Given the description of an element on the screen output the (x, y) to click on. 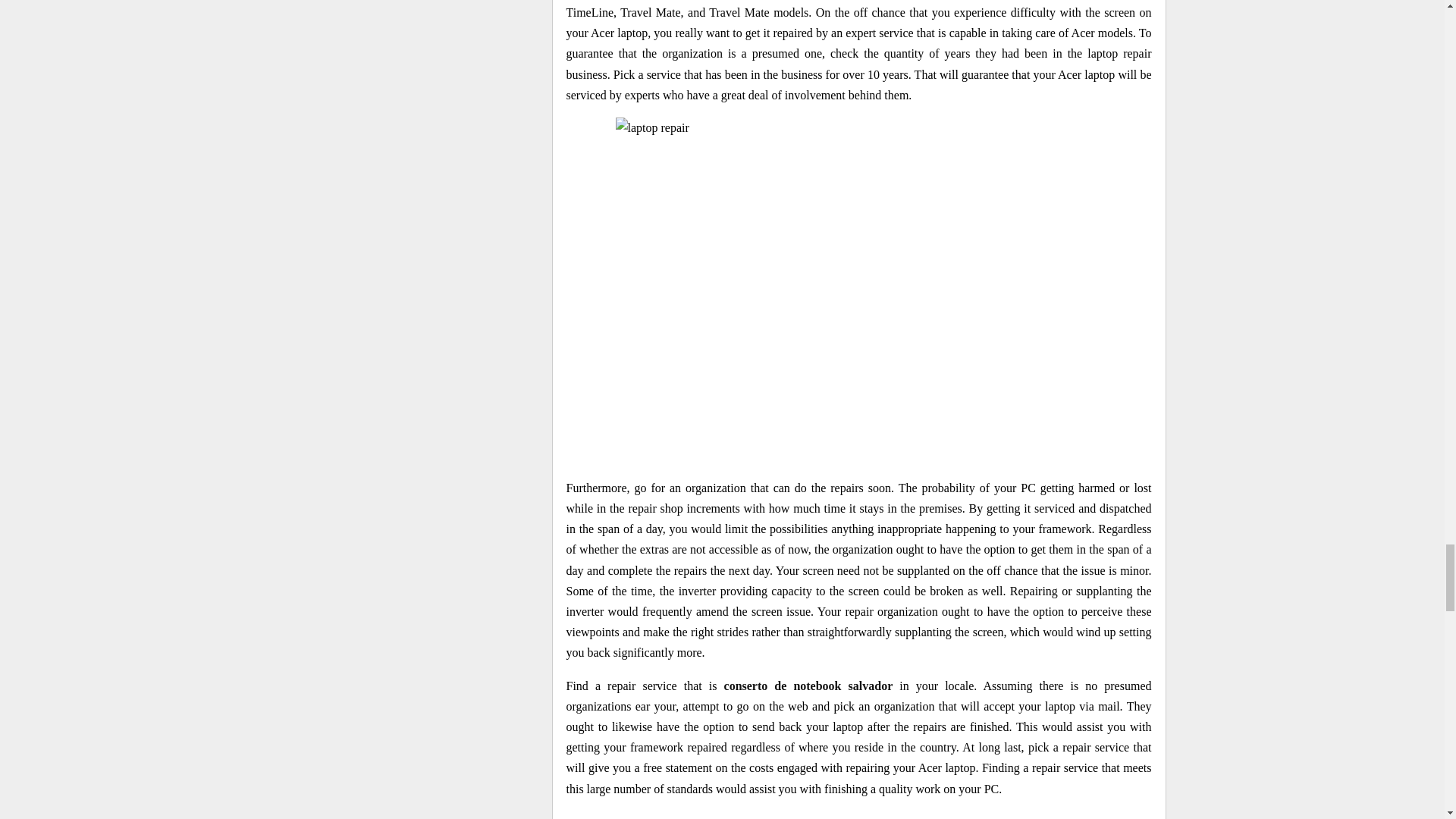
conserto de notebook salvador (808, 685)
